Given the description of an element on the screen output the (x, y) to click on. 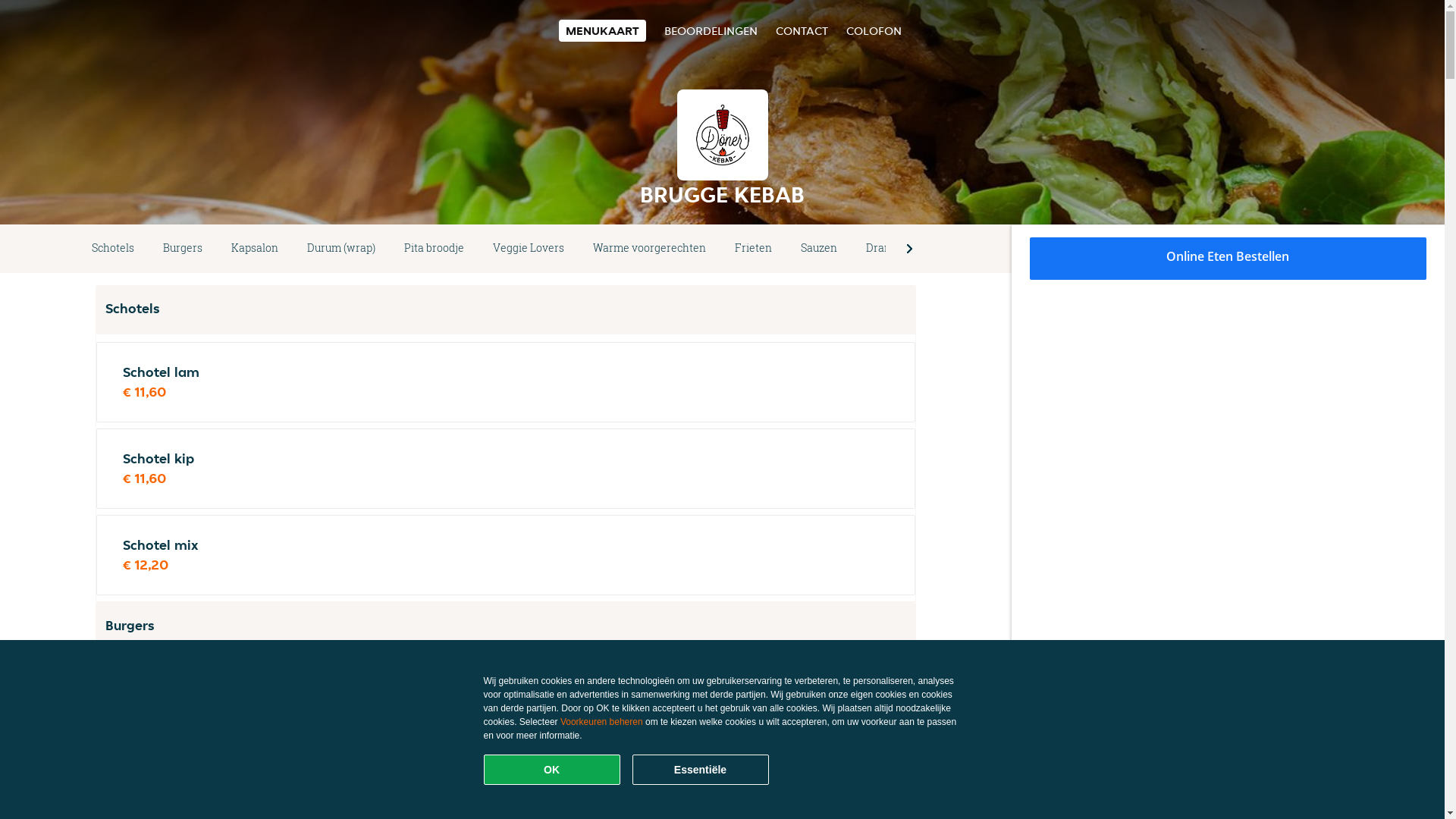
Sauzen Element type: text (818, 248)
Veggie Lovers Element type: text (528, 248)
OK Element type: text (551, 769)
Frieten Element type: text (753, 248)
BEOORDELINGEN Element type: text (710, 30)
Kapsalon Element type: text (254, 248)
Warme voorgerechten Element type: text (649, 248)
Schotels Element type: text (112, 248)
CONTACT Element type: text (801, 30)
Dranken Element type: text (887, 248)
Burgers Element type: text (182, 248)
MENUKAART Element type: text (601, 30)
Voorkeuren beheren Element type: text (601, 721)
Durum (wrap) Element type: text (340, 248)
COLOFON Element type: text (873, 30)
Pita broodje Element type: text (433, 248)
Online Eten Bestellen Element type: text (1228, 258)
